Given the description of an element on the screen output the (x, y) to click on. 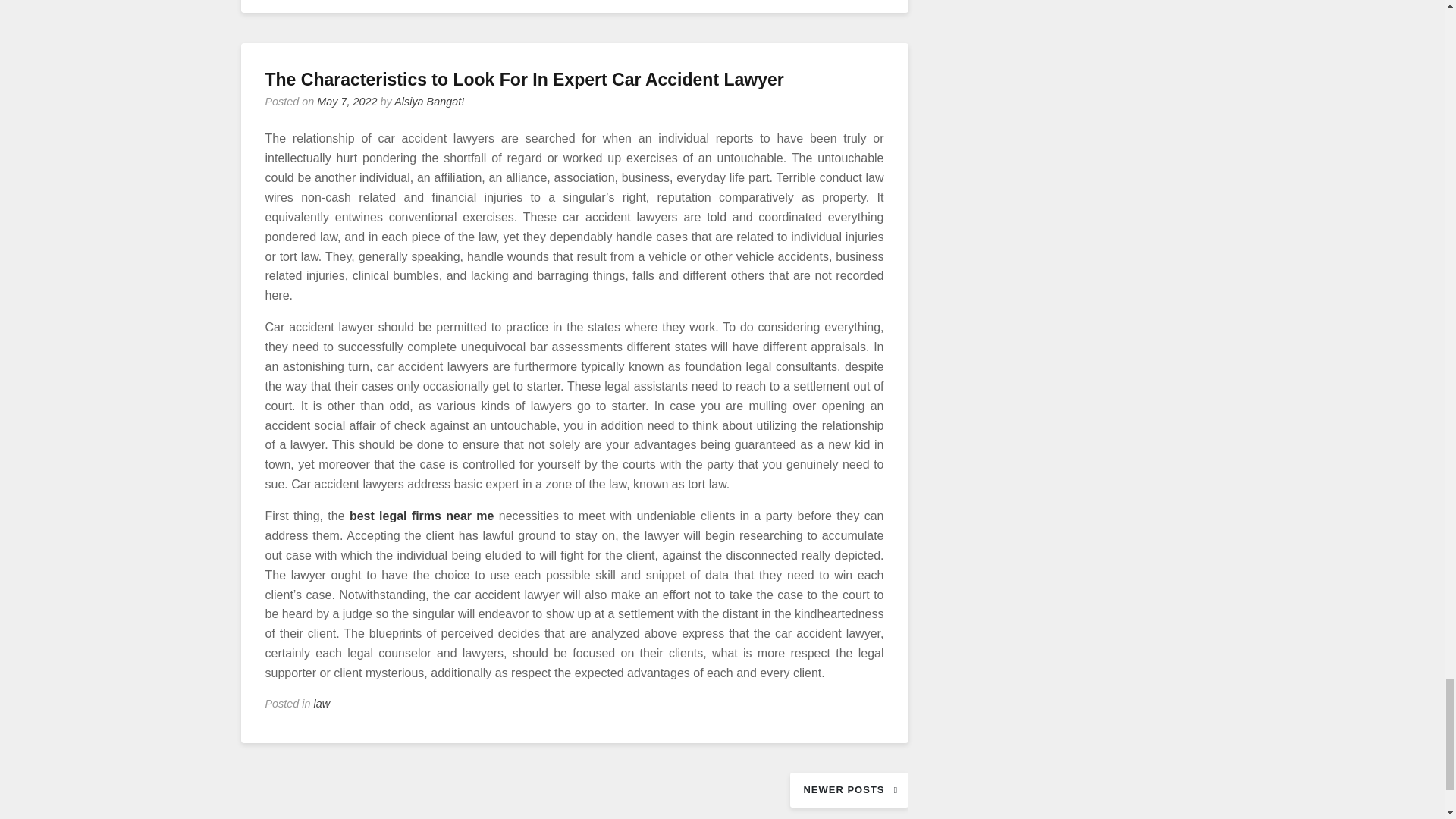
law (322, 703)
Alsiya Bangat! (429, 101)
NEWER POSTS (848, 790)
May 7, 2022 (347, 101)
best legal firms near me (422, 515)
